Given the description of an element on the screen output the (x, y) to click on. 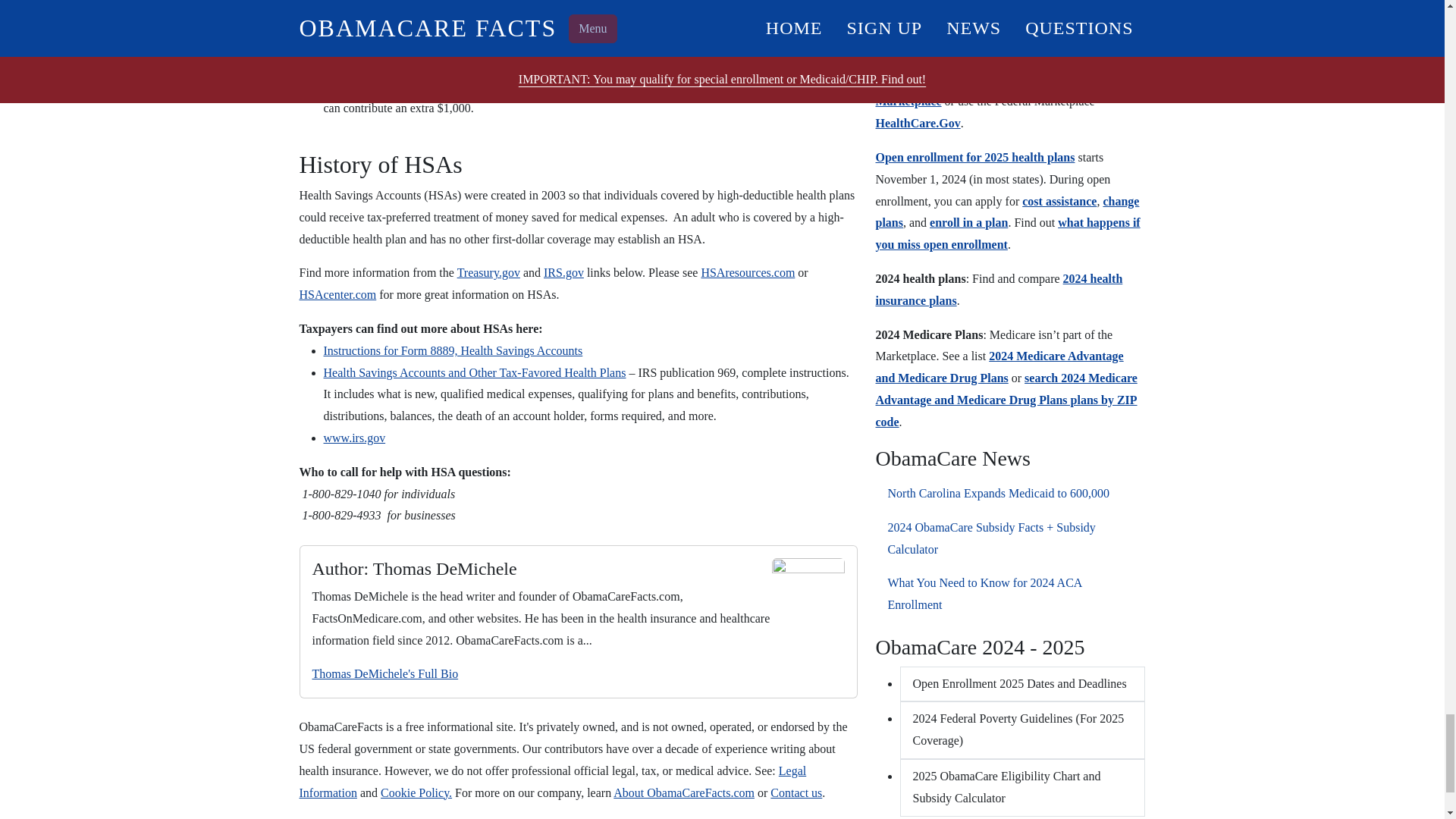
treasury.gov HSAs (488, 272)
IRS HSA (563, 272)
HSA center (336, 294)
HSA resources (747, 272)
